Given the description of an element on the screen output the (x, y) to click on. 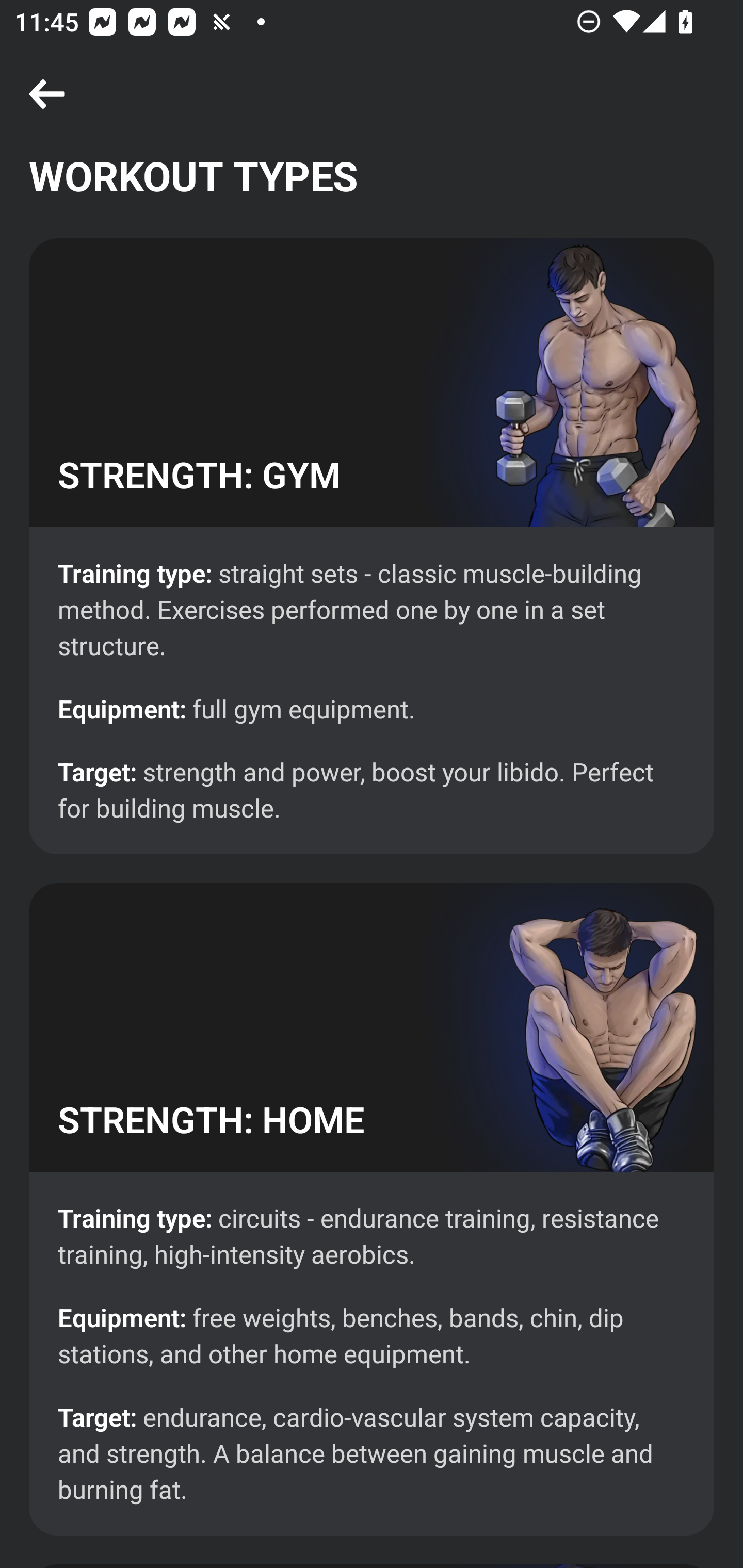
Navigation icon (46, 94)
